Given the description of an element on the screen output the (x, y) to click on. 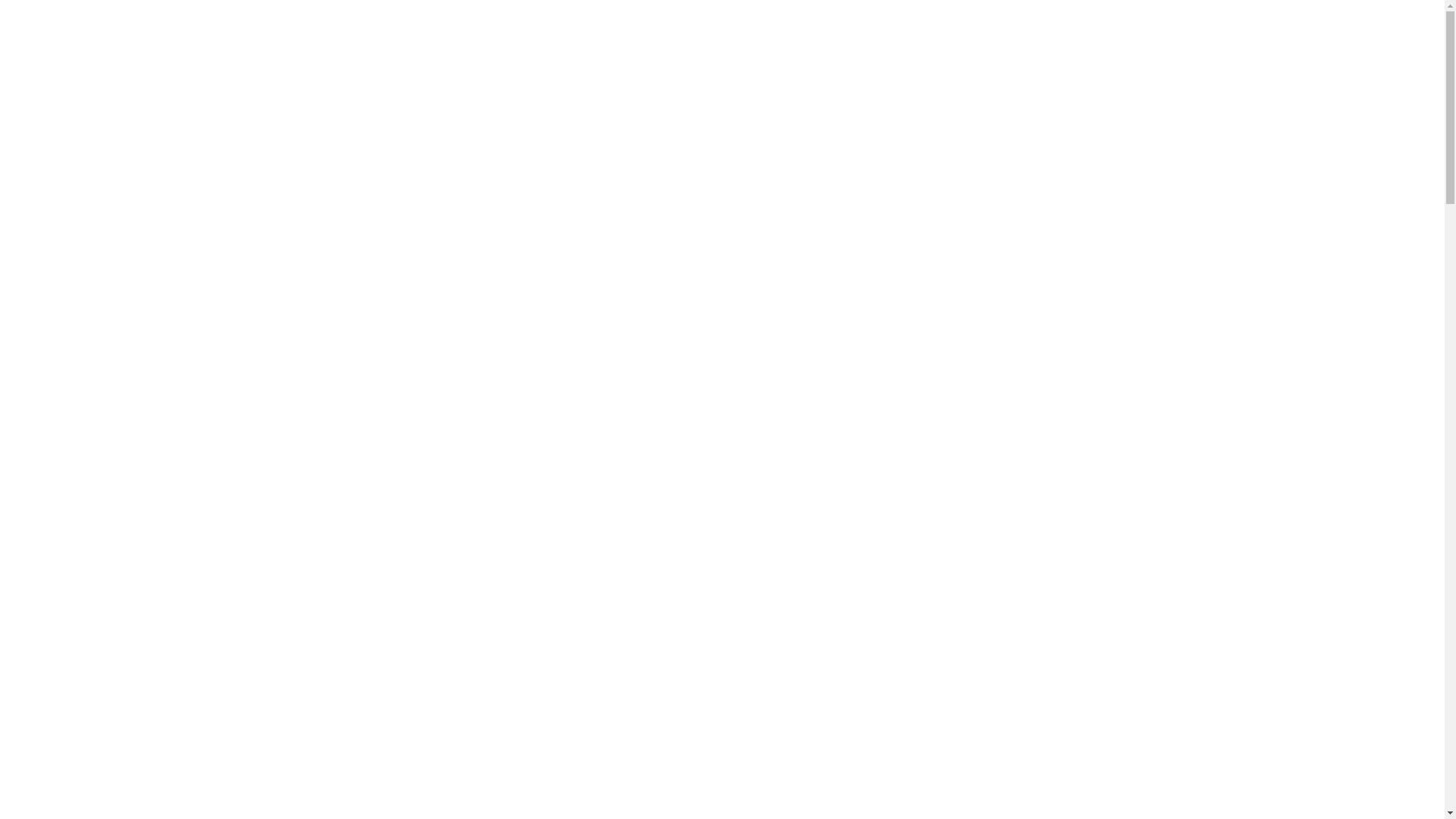
PHOTO GALLERY Element type: text (127, 329)
HOSTEL Element type: text (127, 120)
ABOUT US Element type: text (127, 259)
OP SHOP Element type: text (127, 189)
HOME Element type: text (127, 85)
FOUNDATION Element type: text (127, 224)
CONTACT US Element type: text (127, 294)
YOUTH CENTRE Element type: text (127, 155)
